Given the description of an element on the screen output the (x, y) to click on. 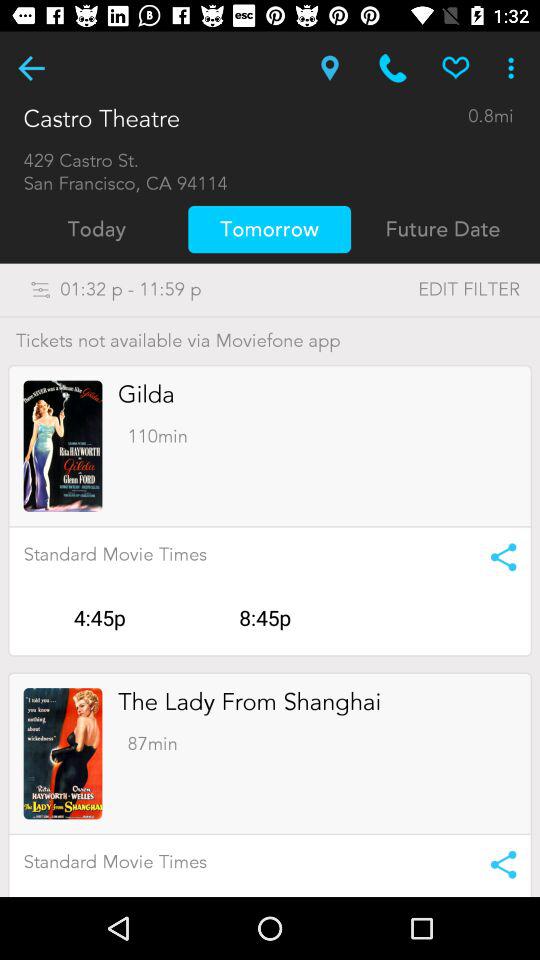
open the item next to the 01 32 p (428, 289)
